Given the description of an element on the screen output the (x, y) to click on. 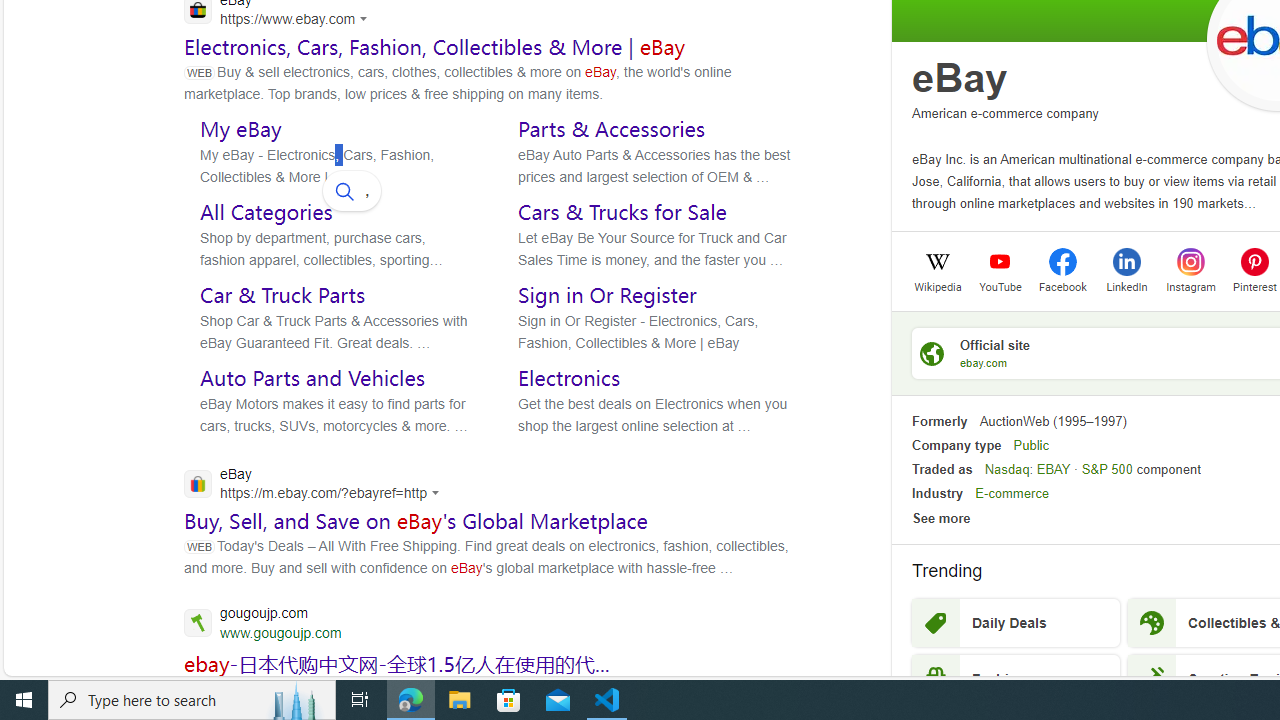
Daily Deals (1015, 623)
